Given the description of an element on the screen output the (x, y) to click on. 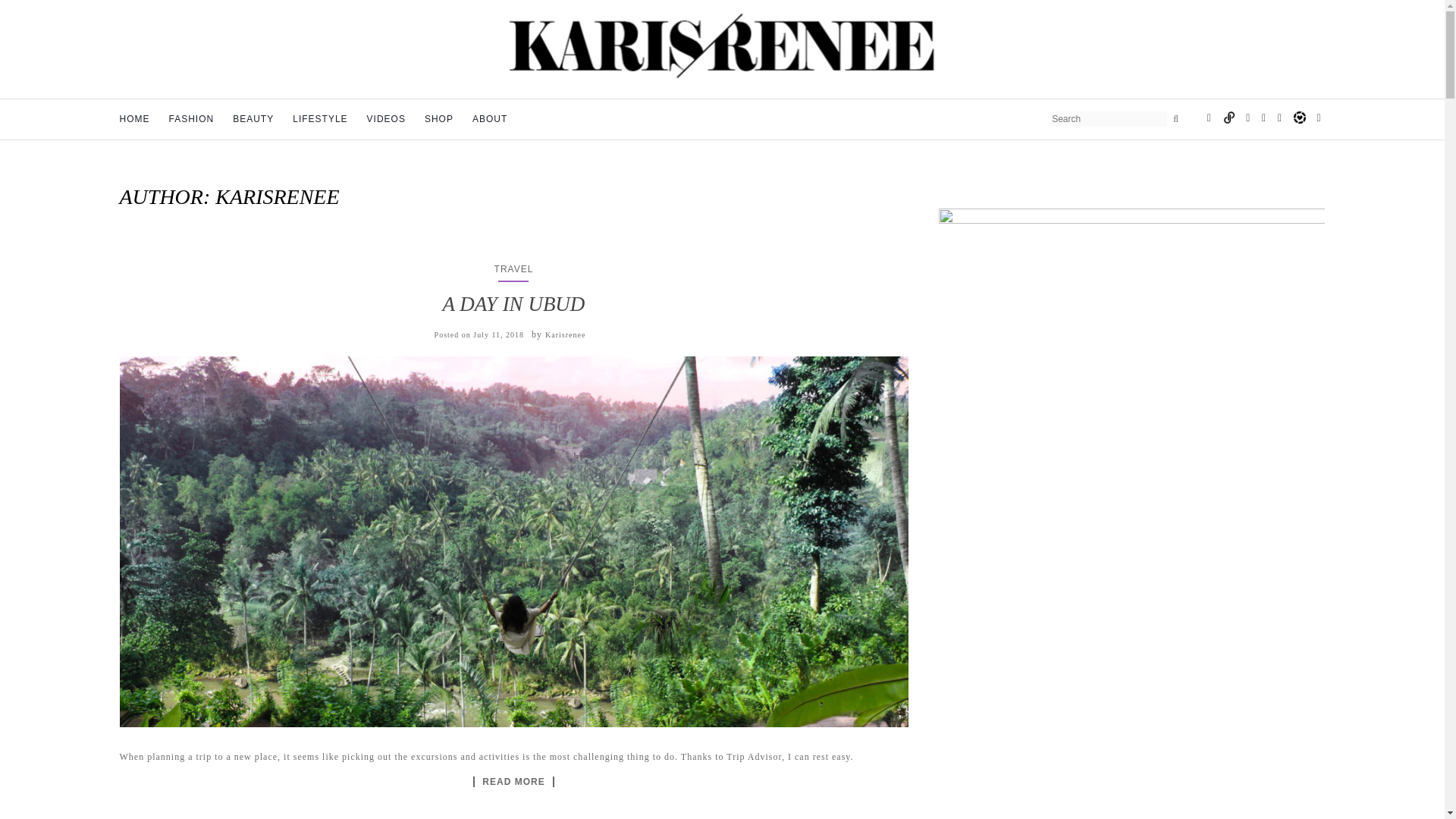
LIFESTYLE (319, 119)
Karisrenee (564, 334)
BEAUTY (252, 119)
About (488, 119)
Search (1176, 118)
HOME (134, 119)
ABOUT (488, 119)
Videos (386, 119)
VIDEOS (386, 119)
July 11, 2018 (498, 334)
